Given the description of an element on the screen output the (x, y) to click on. 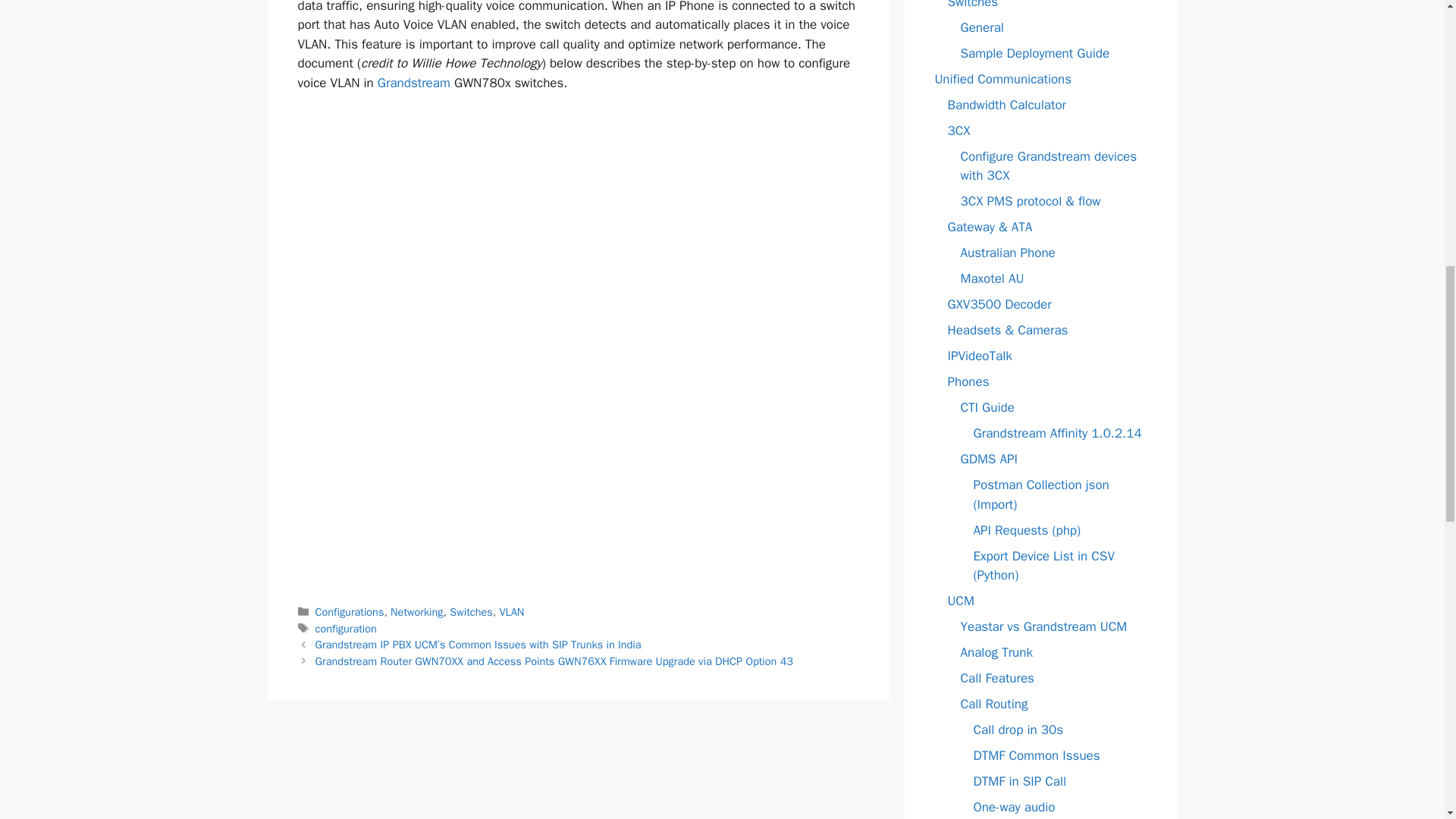
VLAN (511, 612)
Networking (417, 612)
Grandstream (413, 82)
configuration (346, 628)
Configurations (349, 612)
Switches (471, 612)
